Given the description of an element on the screen output the (x, y) to click on. 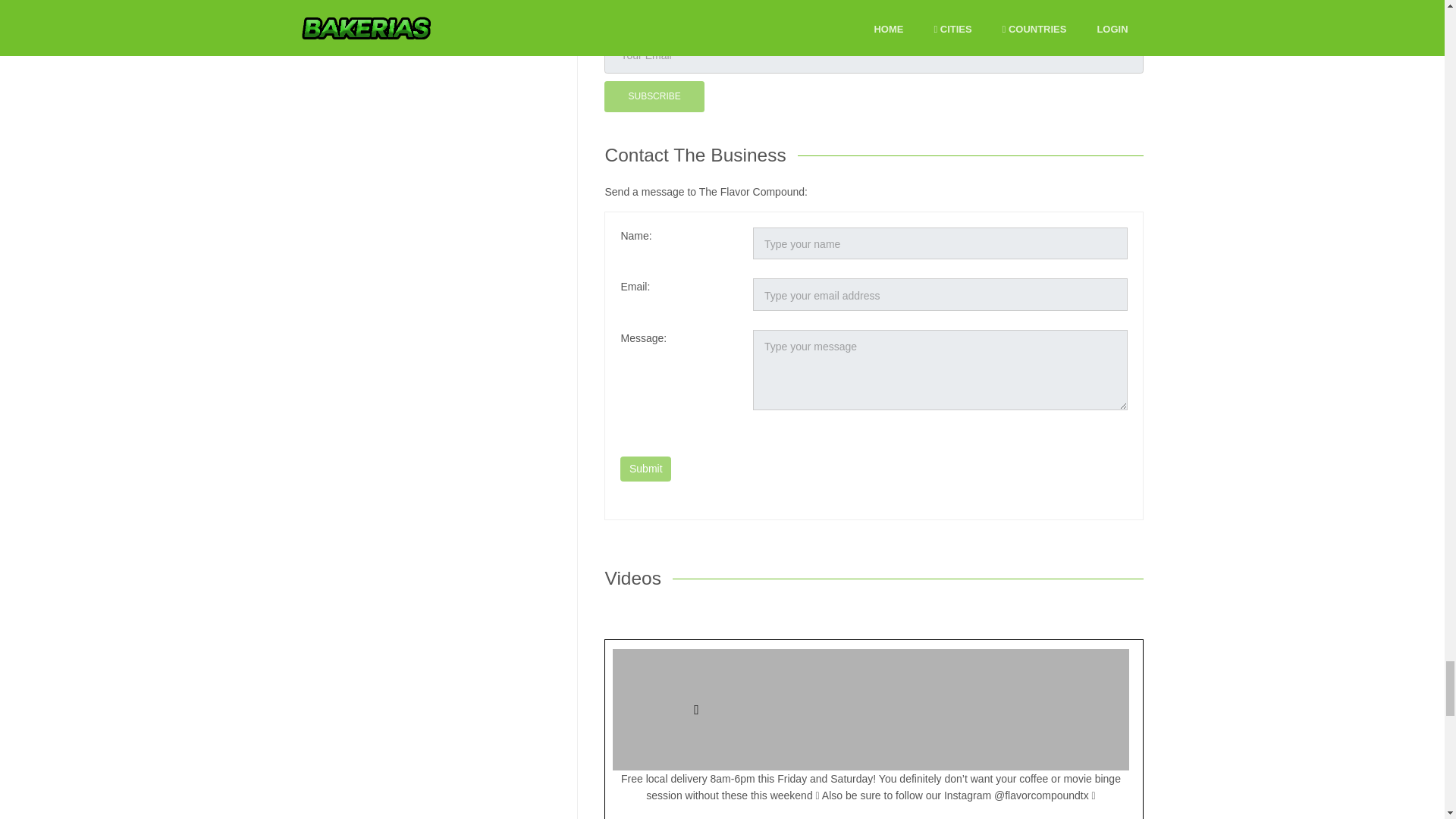
Submit (645, 469)
SUBSCRIBE (653, 96)
Submit (645, 469)
